Given the description of an element on the screen output the (x, y) to click on. 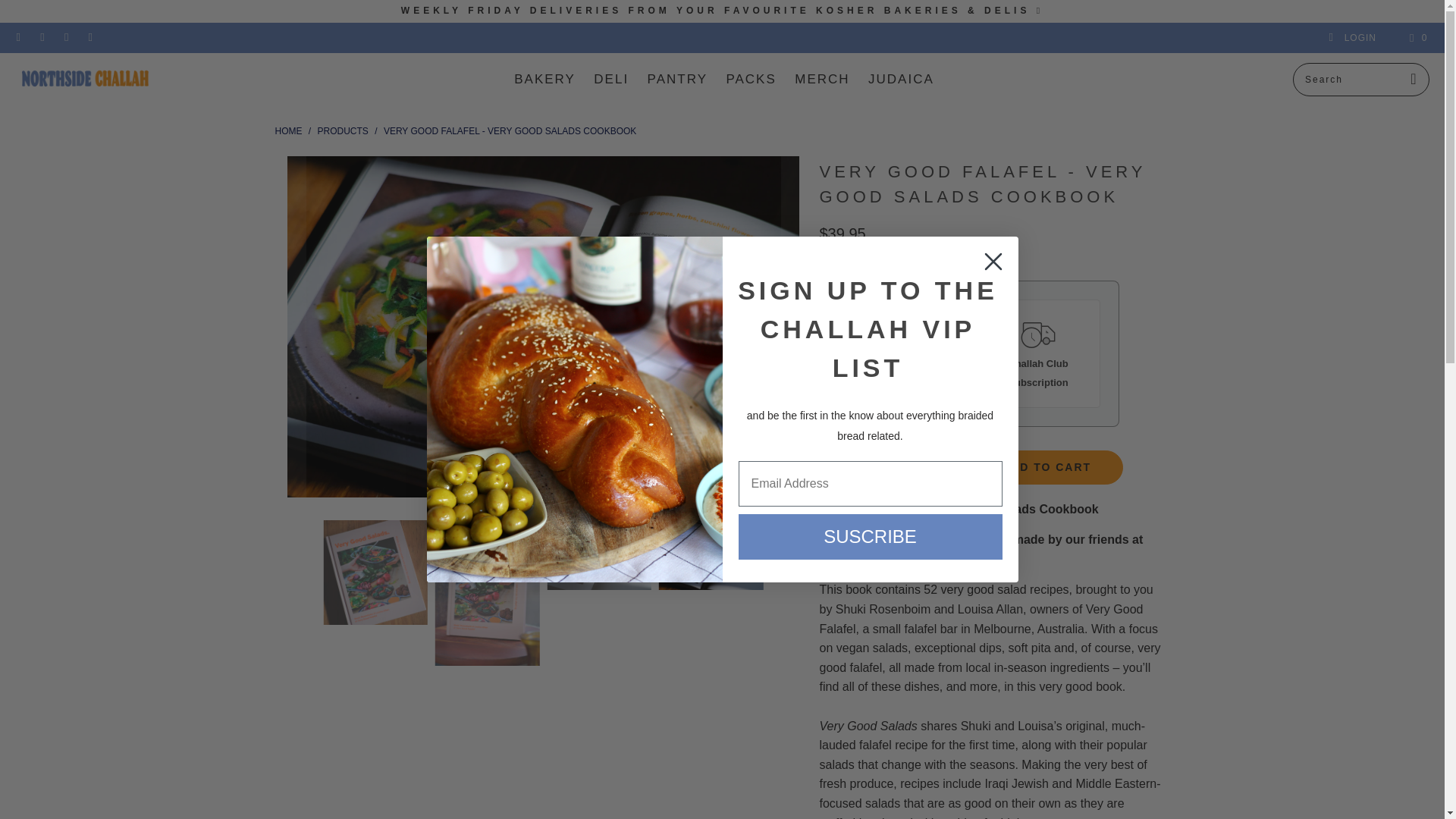
Northside Challah on Facebook (41, 37)
Northside Challah on Instagram (65, 37)
DELI (611, 79)
Northside Challah on Twitter (17, 37)
1 (889, 467)
Products (342, 131)
Northside Challah (84, 80)
Email Northside Challah (89, 37)
BAKERY (544, 79)
LOGIN (1351, 37)
Northside Challah (288, 131)
My Account  (1351, 37)
PANTRY (677, 79)
Pesach (715, 9)
